Given the description of an element on the screen output the (x, y) to click on. 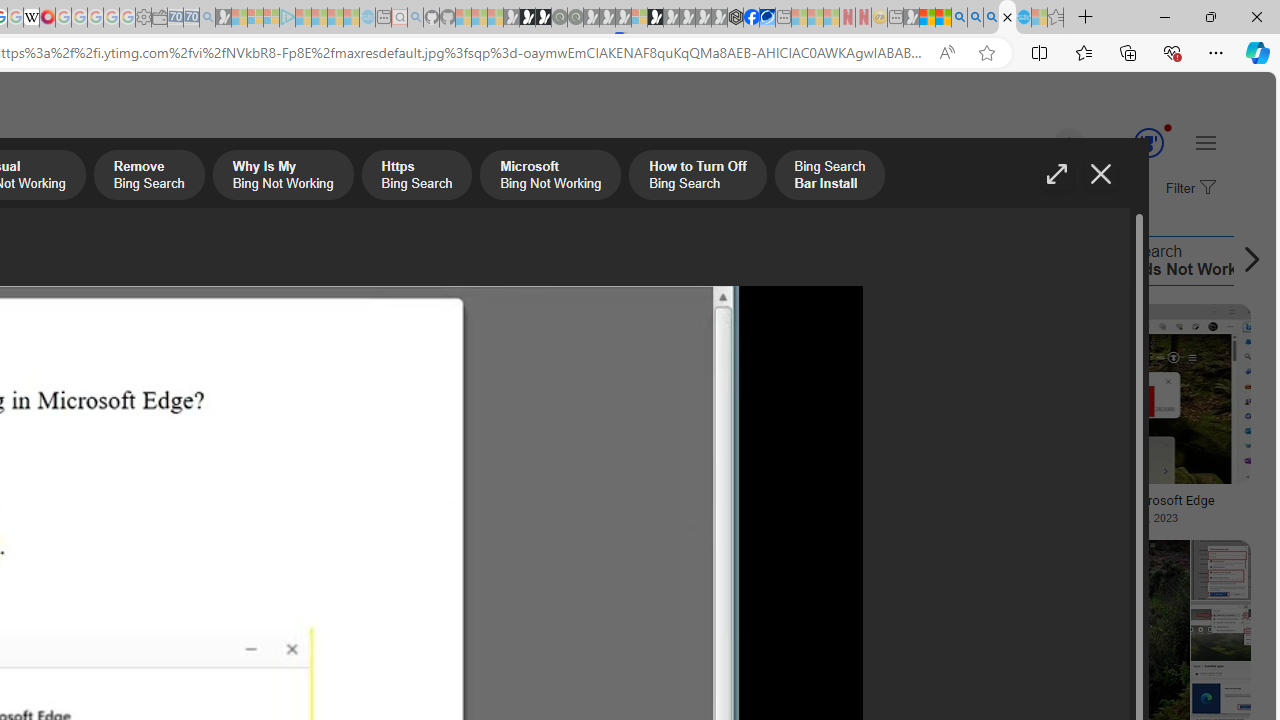
Microsoft Bing Not Working (73, 260)
Image result for Bing Search Not Working (1220, 630)
How to Get Rid of Bing Search (928, 260)
Nordace | Facebook (751, 17)
